Given the description of an element on the screen output the (x, y) to click on. 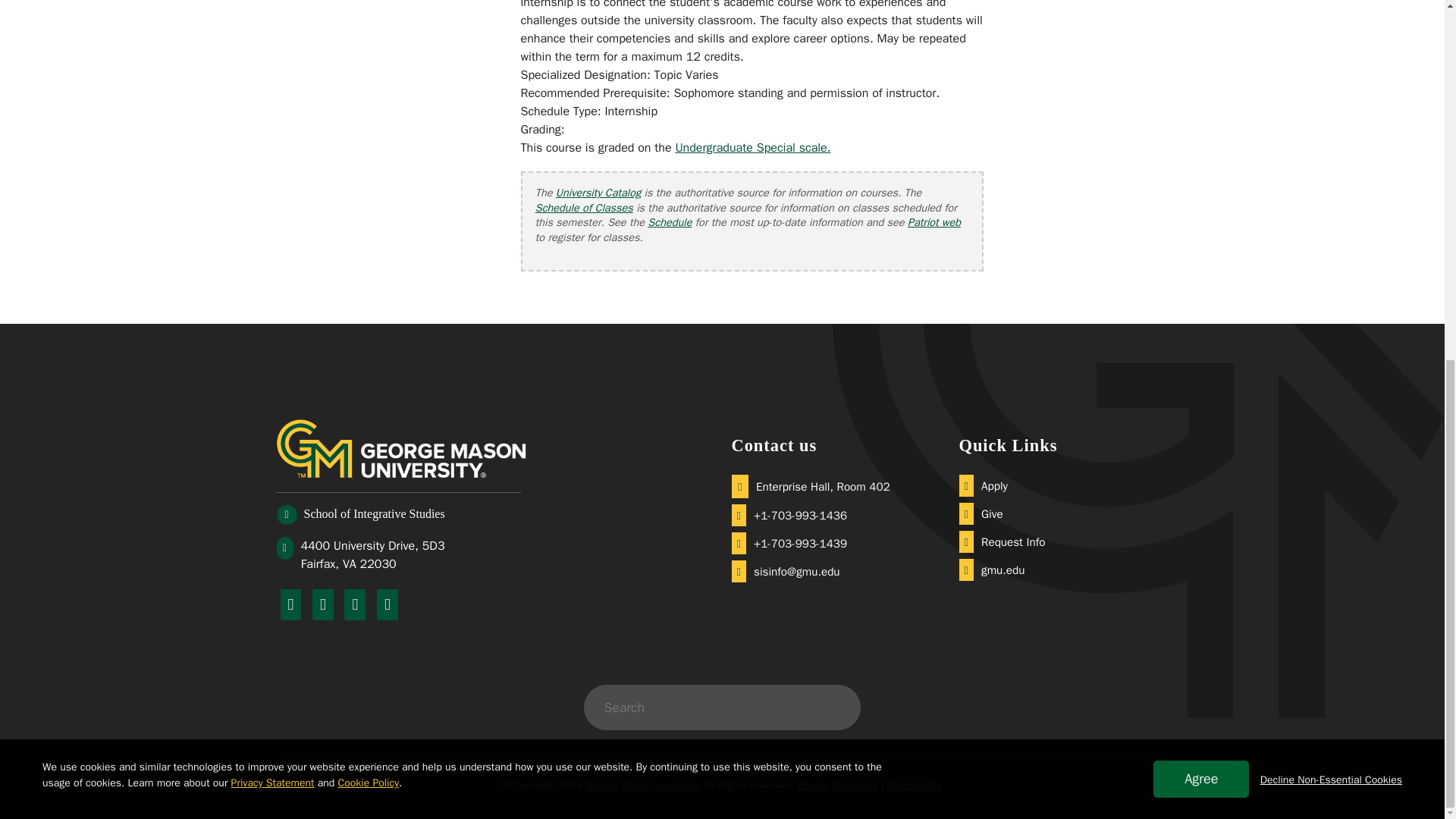
Cookie Policy (367, 144)
Decline Non-Essential Cookies (1331, 141)
George Mason University Privacy Statement (272, 144)
Agree (1201, 140)
George Mason University Cookie Policy (367, 144)
Privacy Statement (272, 144)
